Given the description of an element on the screen output the (x, y) to click on. 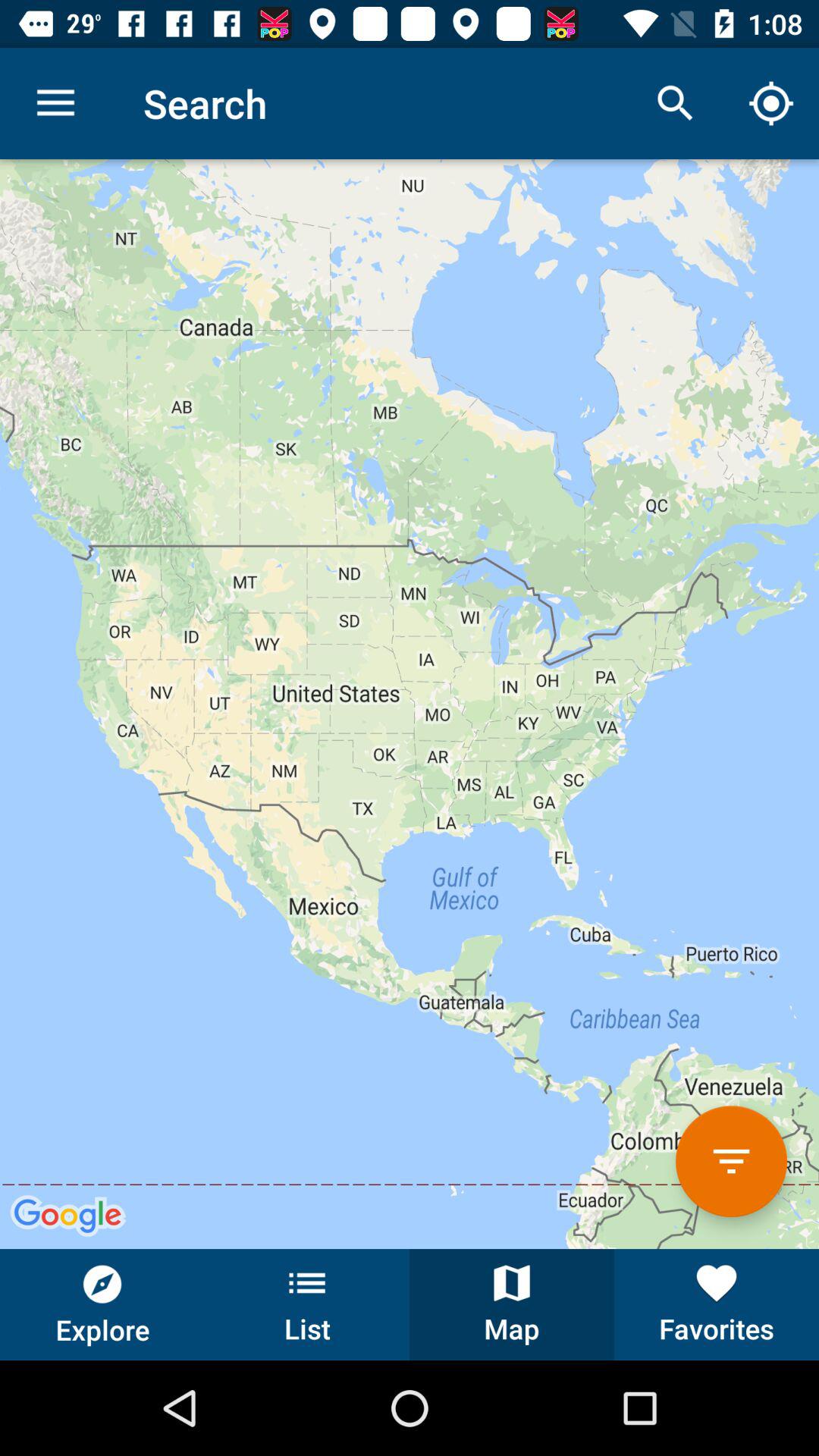
filter search results (731, 1161)
